Given the description of an element on the screen output the (x, y) to click on. 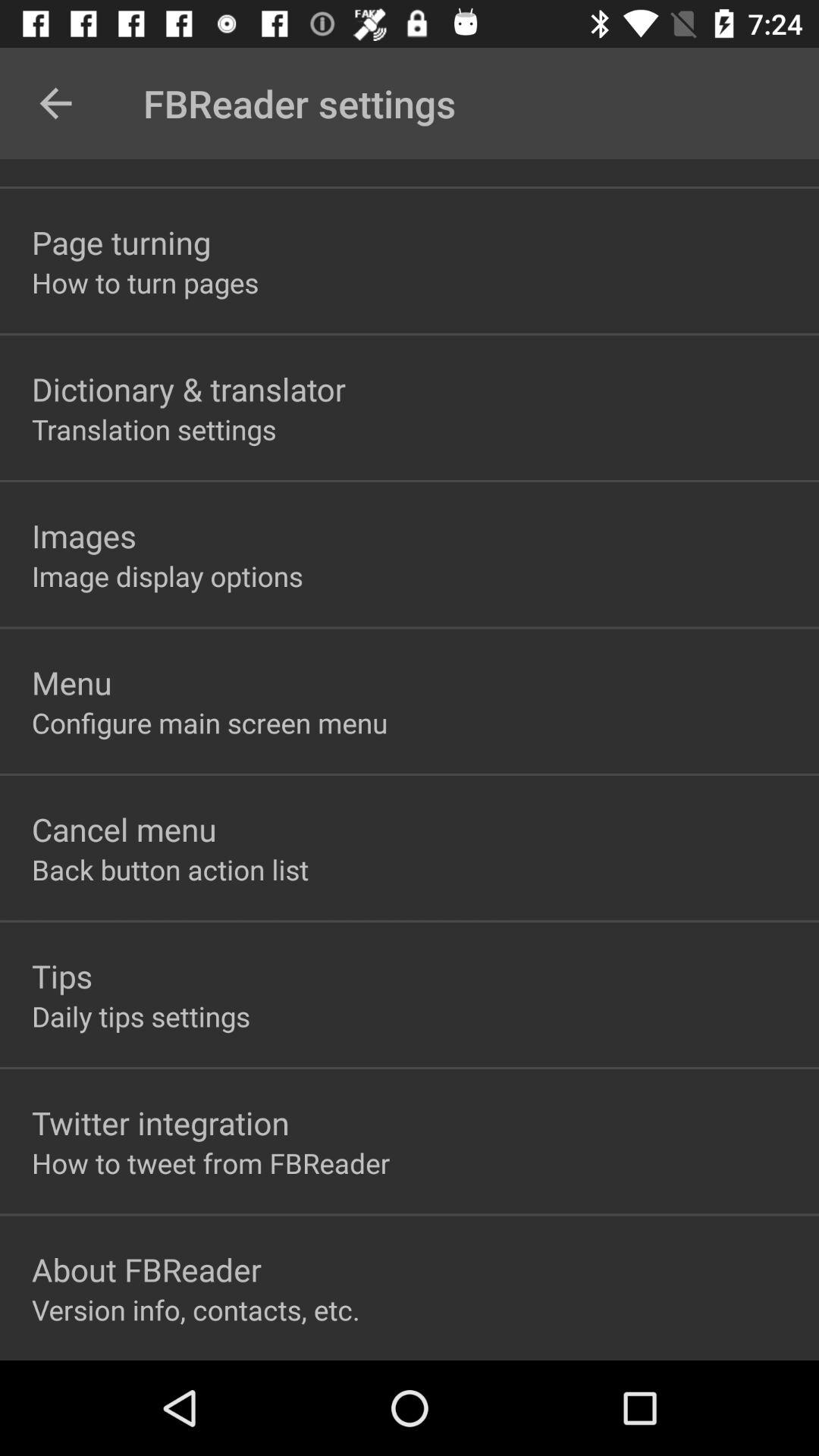
choose dictionary & translator item (188, 388)
